Given the description of an element on the screen output the (x, y) to click on. 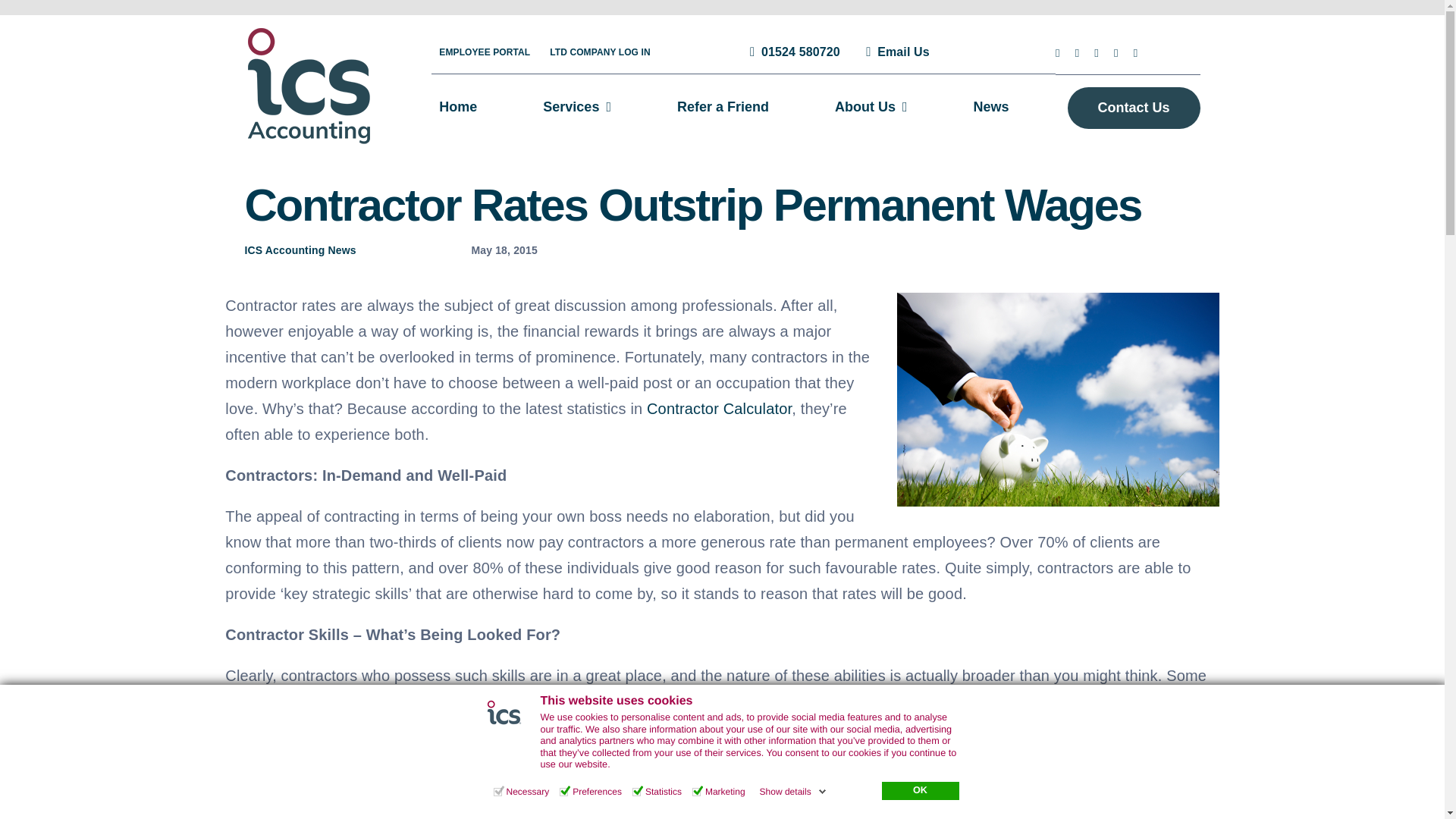
Show details (793, 791)
OK (919, 791)
